Given the description of an element on the screen output the (x, y) to click on. 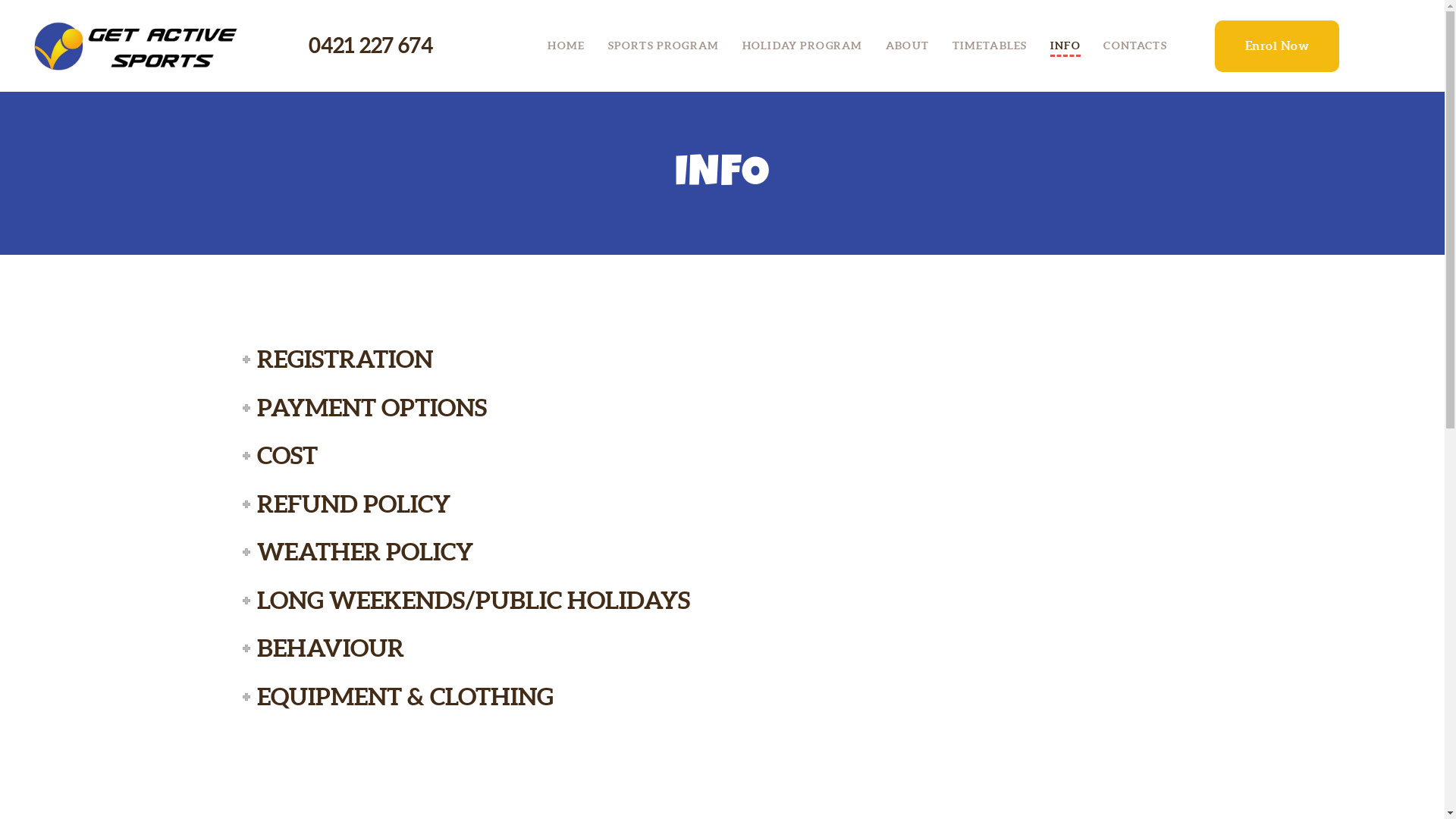
CONTACTS Element type: text (1135, 45)
SPORTS PROGRAM Element type: text (663, 45)
HOLIDAY PROGRAM Element type: text (802, 45)
INFO Element type: text (1065, 45)
ABOUT Element type: text (907, 45)
TIMETABLES Element type: text (989, 45)
Enrol Now Element type: text (1276, 46)
HOME Element type: text (566, 45)
